Given the description of an element on the screen output the (x, y) to click on. 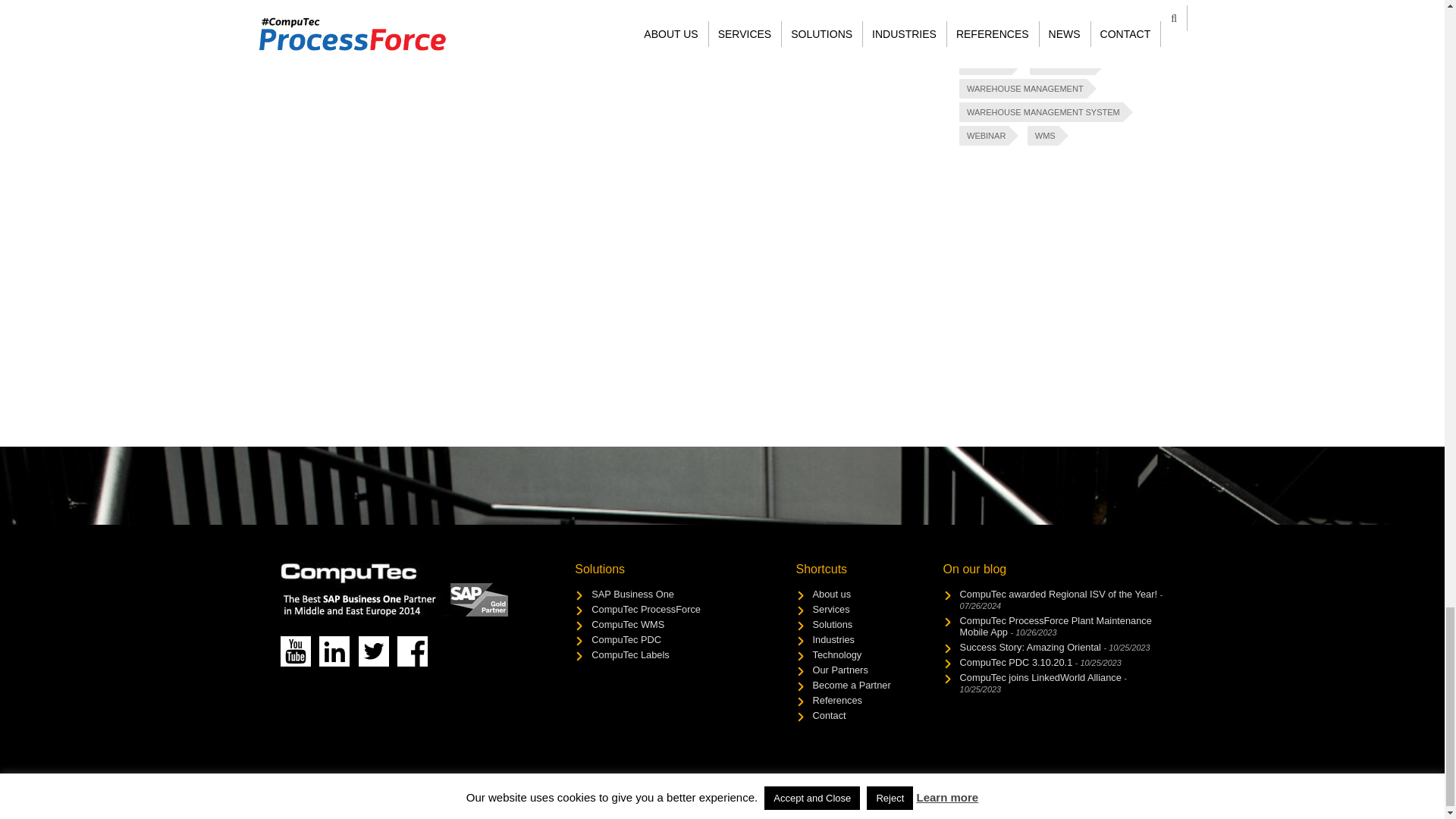
CompuTec joins LinkedWorld Alliance (1042, 682)
CompuTec awarded Regional ISV of the Year! (1061, 599)
CompuTec ProcessForce Plant Maintenance Mobile App (1055, 626)
CompuTec PDC 3.10.20.1 (1040, 662)
Success Story: Amazing Oriental (1054, 646)
